Given the description of an element on the screen output the (x, y) to click on. 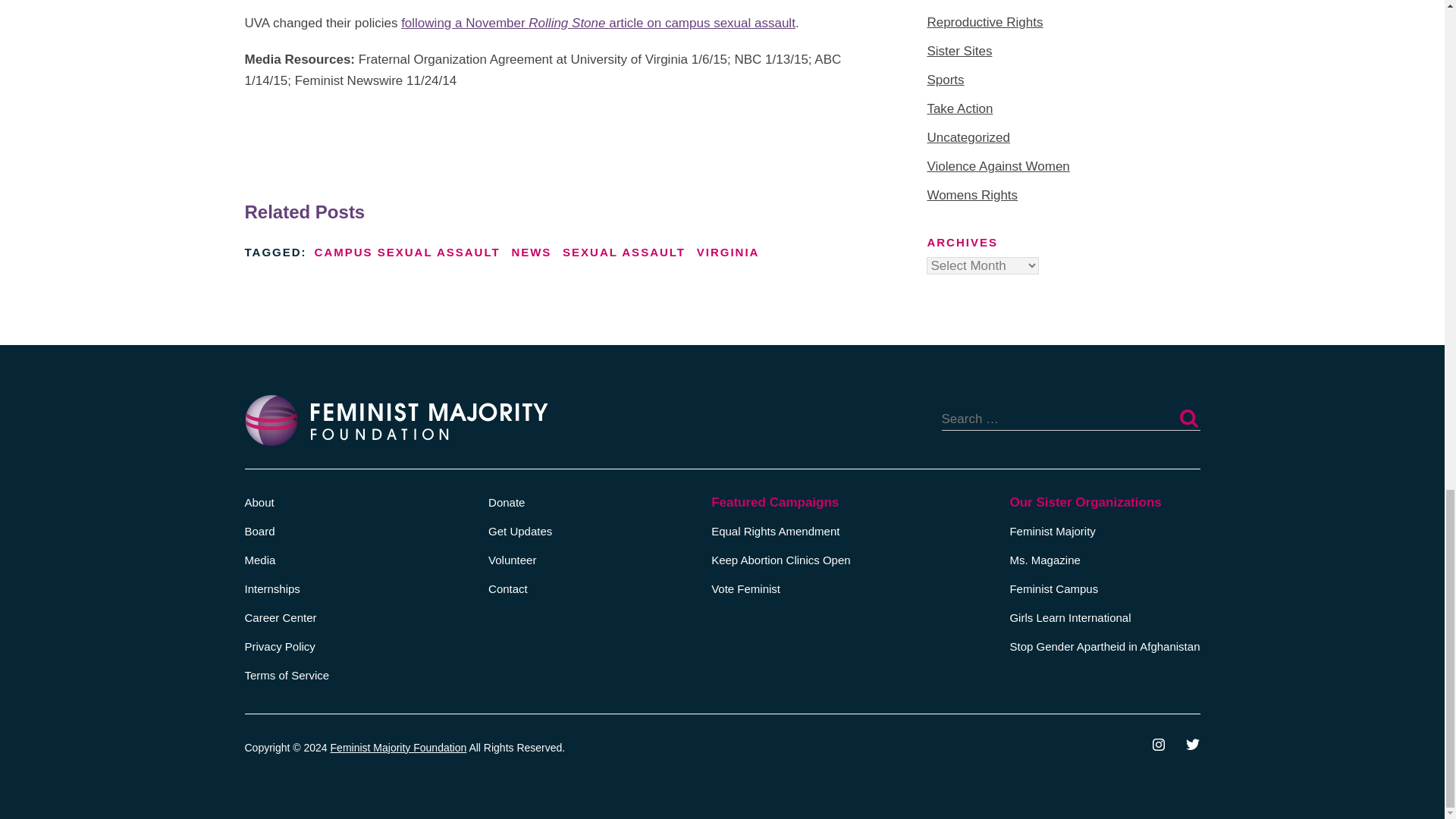
Search (1187, 418)
Search (1187, 418)
